Given the description of an element on the screen output the (x, y) to click on. 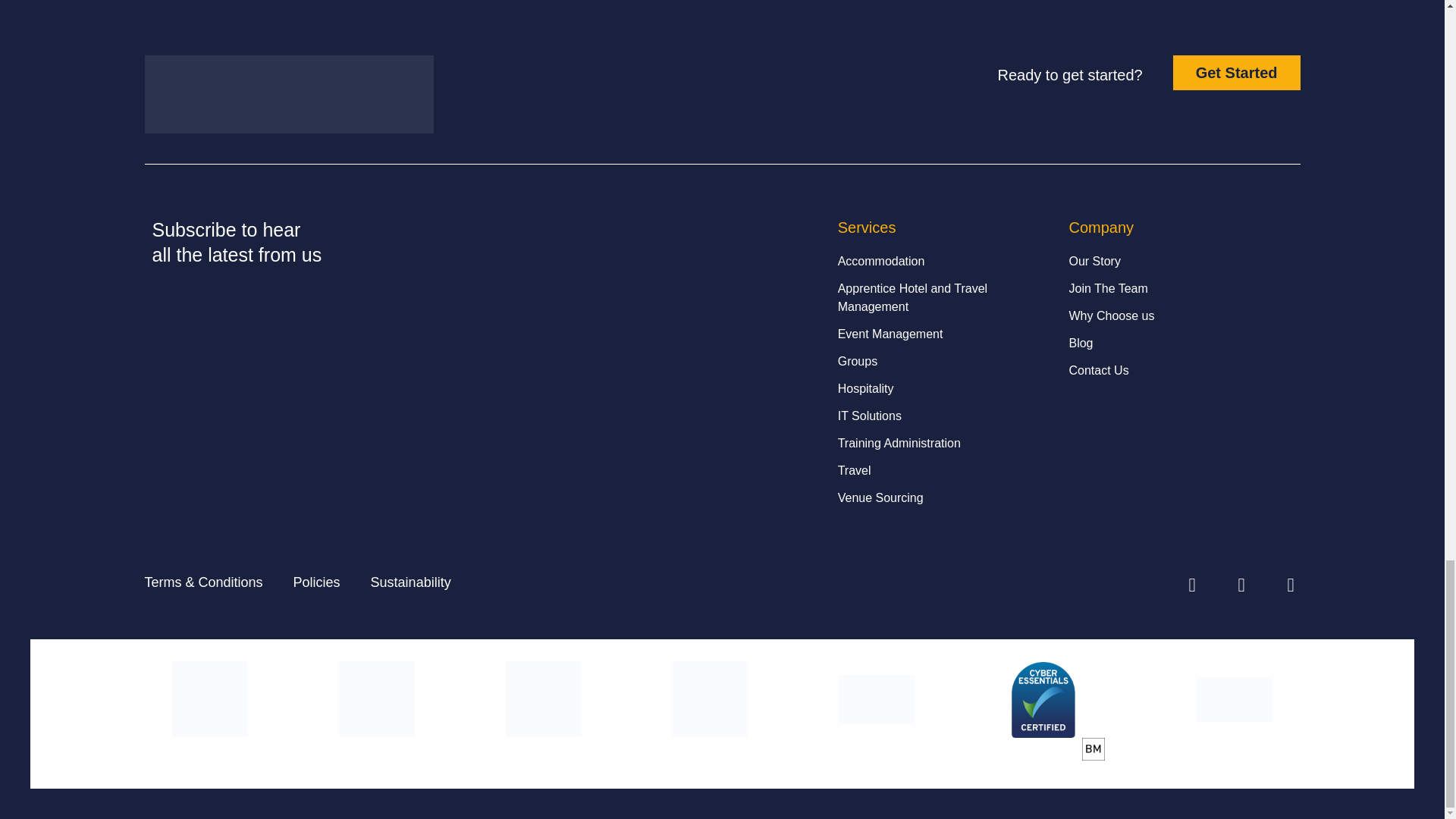
Accommodation (946, 261)
Apprentice Hotel and Travel Management (946, 298)
Contact Us (1176, 370)
Blog (1176, 343)
Why Choose us (1176, 316)
Policies (317, 581)
Event Management (946, 334)
Get Started (1236, 72)
Sustainability (411, 581)
Our Story (1176, 261)
